Given the description of an element on the screen output the (x, y) to click on. 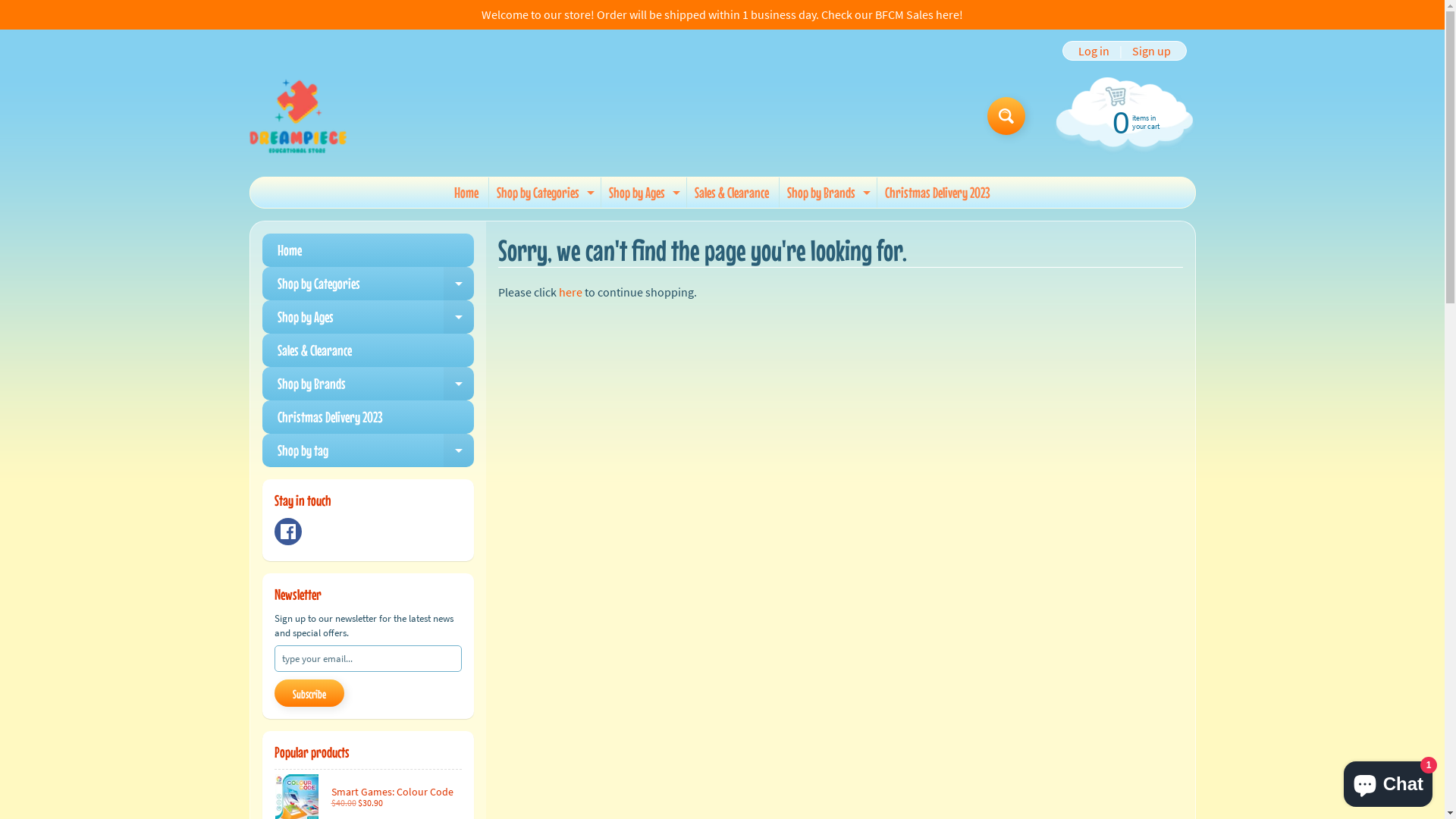
Shopify online store chat Element type: hover (1388, 780)
Christmas Delivery 2023 Element type: text (368, 416)
Christmas Delivery 2023 Element type: text (937, 192)
Skip to content Element type: text (22, 8)
Sales & Clearance Element type: text (368, 350)
here Element type: text (570, 291)
0
items in your cart Element type: text (1122, 121)
Expand child menu Element type: text (458, 450)
Shop by Brands
Expand child menu Element type: text (826, 192)
Expand child menu Element type: text (590, 192)
Home Element type: text (466, 192)
Expand child menu Element type: text (458, 316)
Log in Element type: text (1093, 50)
Facebook Element type: hover (287, 531)
Expand child menu Element type: text (676, 192)
Shop by Ages
Expand child menu Element type: text (368, 316)
Expand child menu Element type: text (458, 383)
Home Element type: text (368, 249)
Shop by tag
Expand child menu Element type: text (368, 450)
Expand child menu Element type: text (458, 283)
Search Element type: text (1006, 115)
Dreampiece Educational Store Element type: hover (296, 115)
Shop by Categories
Expand child menu Element type: text (368, 283)
Shop by Categories
Expand child menu Element type: text (543, 192)
Sales & Clearance Element type: text (731, 192)
Sign up Element type: text (1150, 50)
Expand child menu Element type: text (866, 192)
Shop by Ages
Expand child menu Element type: text (642, 192)
Subscribe Element type: text (309, 692)
Shop by Brands
Expand child menu Element type: text (368, 383)
